Given the description of an element on the screen output the (x, y) to click on. 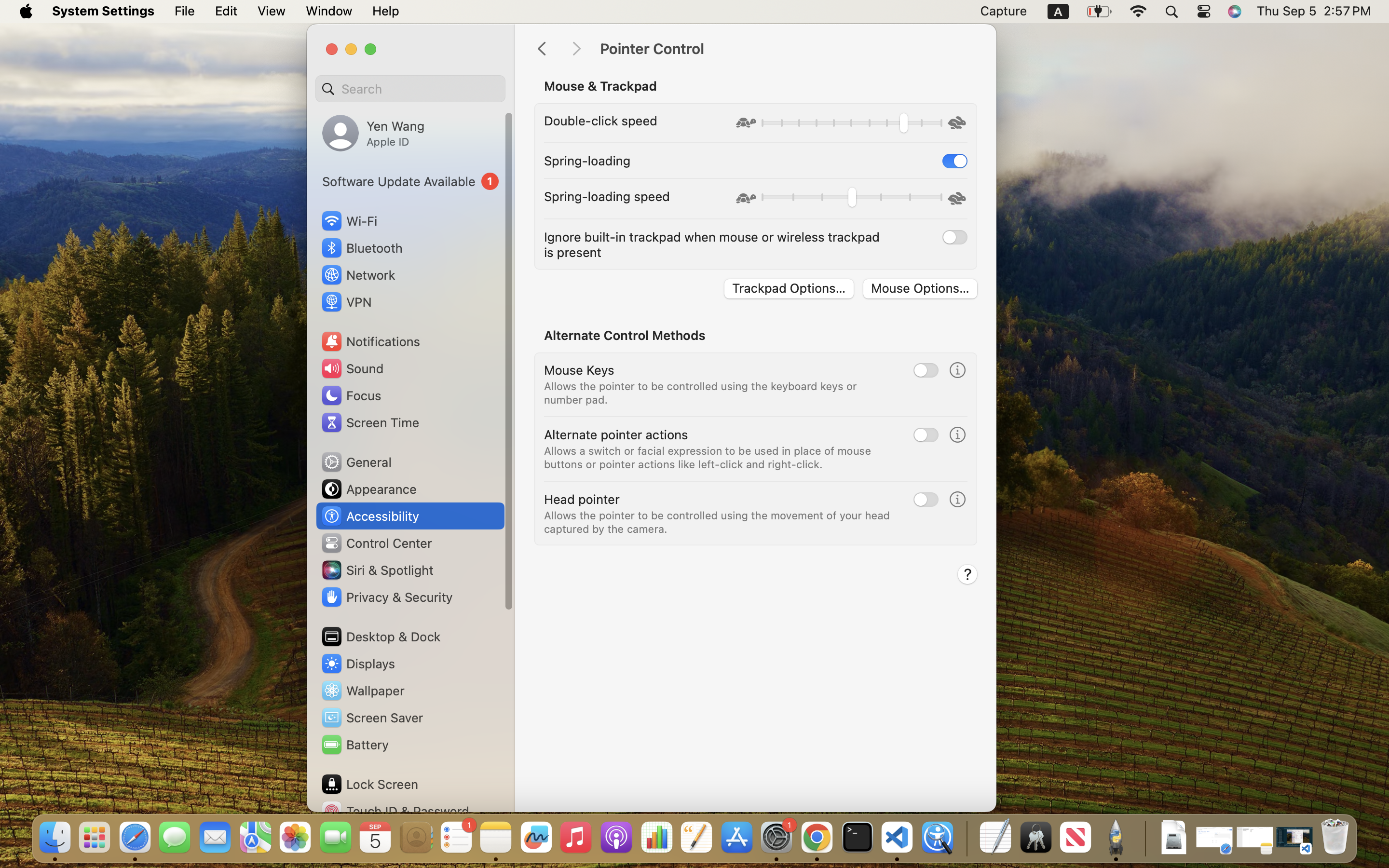
Screen Saver Element type: AXStaticText (371, 717)
0.4285714328289032 Element type: AXDockItem (965, 837)
Wallpaper Element type: AXStaticText (362, 690)
Network Element type: AXStaticText (357, 274)
General Element type: AXStaticText (355, 461)
